Given the description of an element on the screen output the (x, y) to click on. 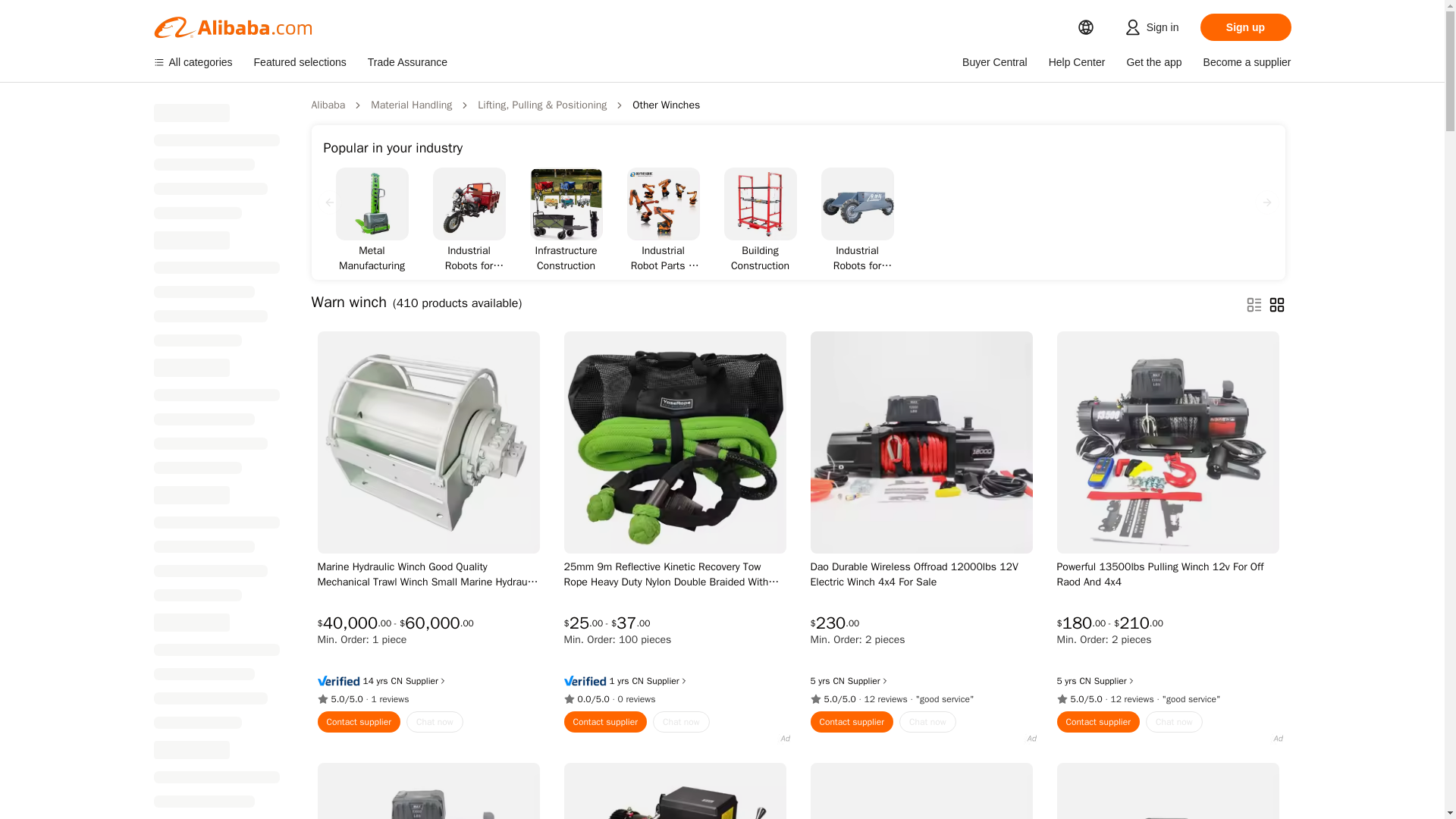
Ini Hydraulic Co., Ltd. (397, 680)
Suzhou Dao Material Technologies Co., Ltd. (1084, 680)
Suzhou Dao Material Technologies Co., Ltd. (838, 680)
